Given the description of an element on the screen output the (x, y) to click on. 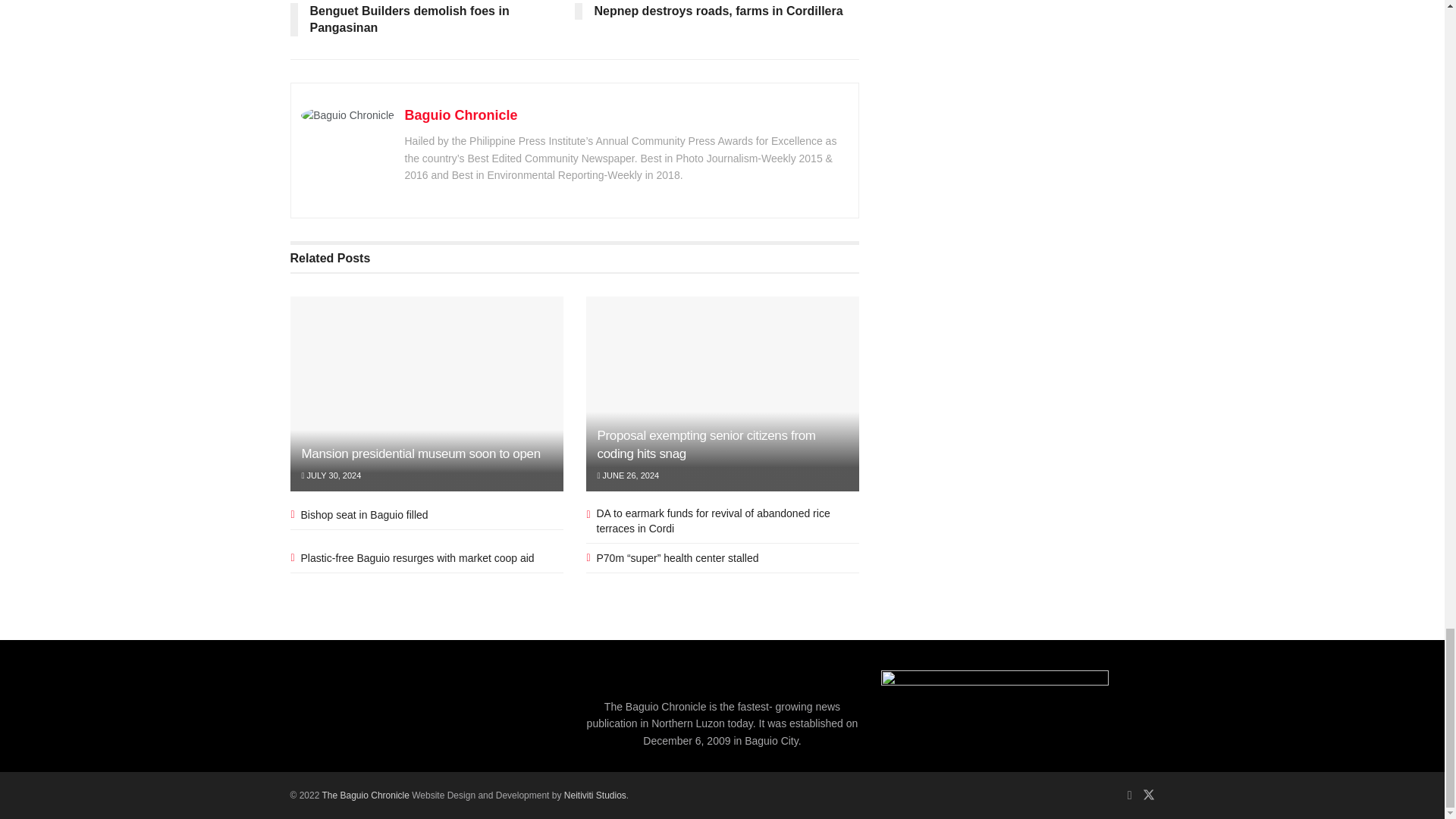
Website design by (366, 795)
PPI-and-HSF-Logos (994, 709)
Neitiviti Studios (595, 795)
